Given the description of an element on the screen output the (x, y) to click on. 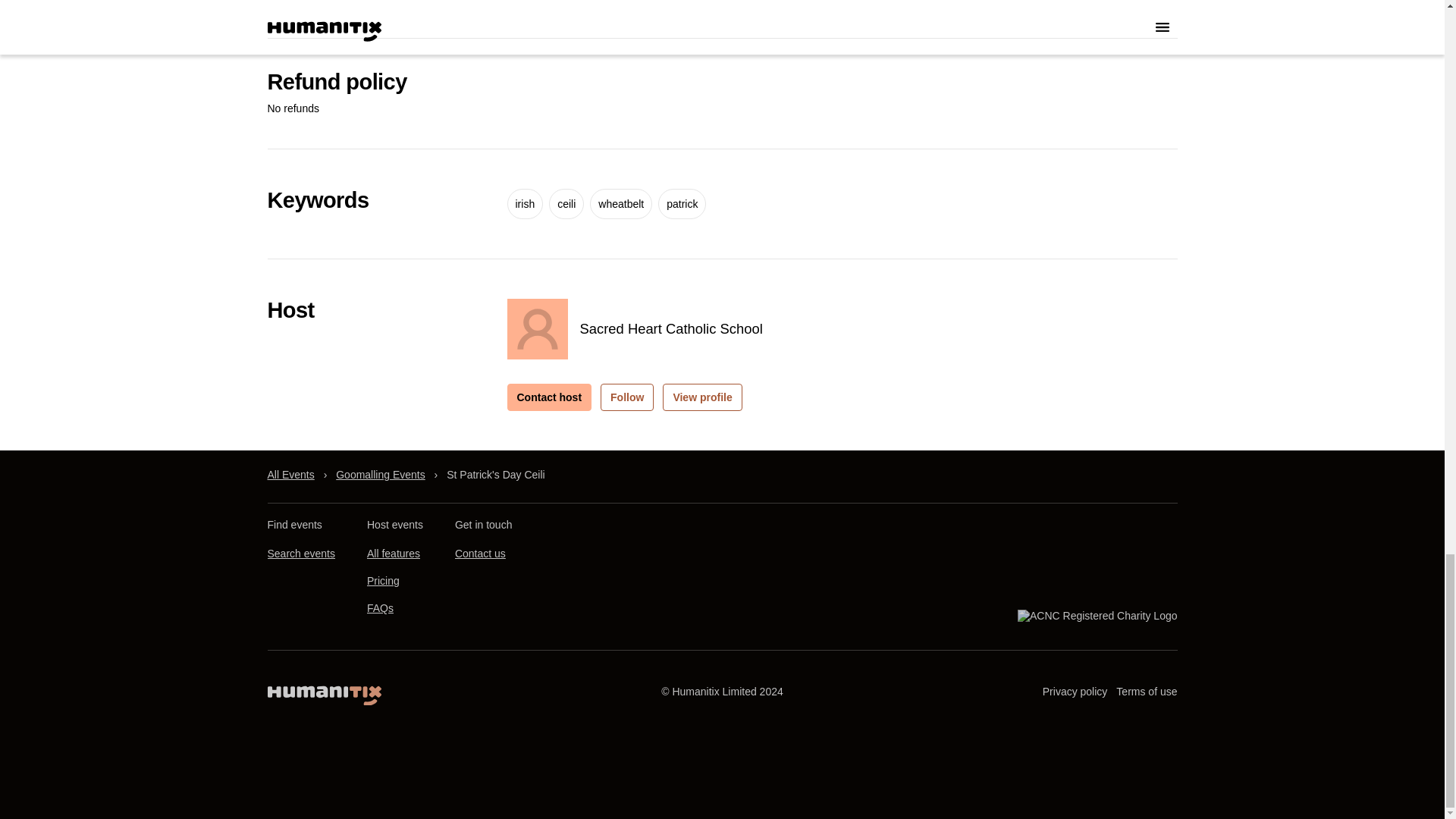
Pricing (382, 581)
Follow (626, 397)
All features (393, 554)
St Patrick'S Day Ceili (495, 474)
View profile (701, 397)
Contact host (548, 397)
Goomalling Events (380, 474)
All Events (290, 474)
Search events (300, 554)
